Given the description of an element on the screen output the (x, y) to click on. 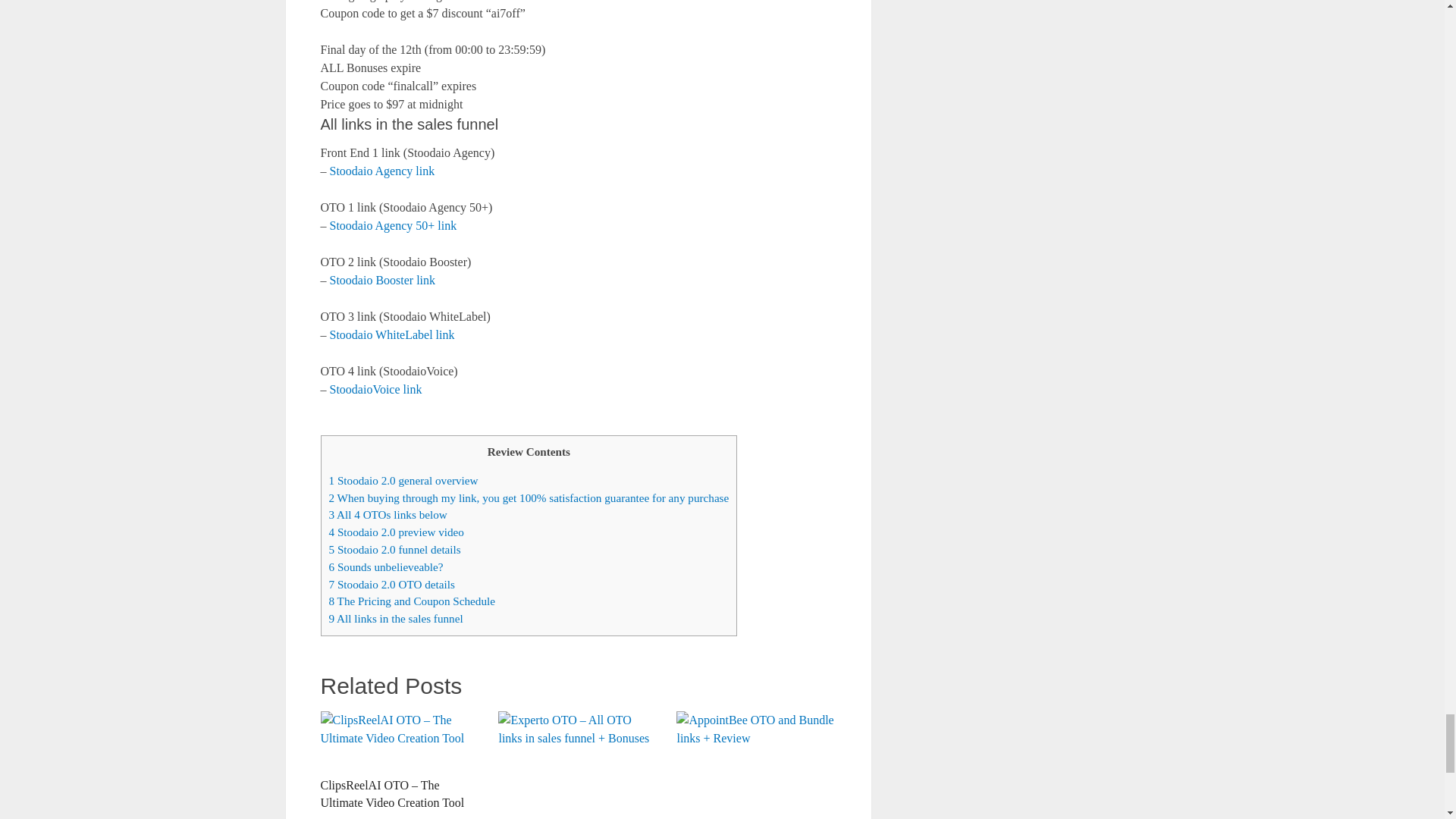
1 Stoodaio 2.0 general overview (404, 480)
Stoodaio WhiteLabel link (391, 334)
8 The Pricing and Coupon Schedule (412, 600)
StoodaioVoice link (375, 389)
3 All 4 OTOs links below (387, 513)
7 Stoodaio 2.0 OTO details (391, 584)
Stoodaio Booster link (382, 279)
Stoodaio Agency link (381, 170)
4 Stoodaio 2.0 preview video (396, 531)
9 All links in the sales funnel (396, 617)
